Given the description of an element on the screen output the (x, y) to click on. 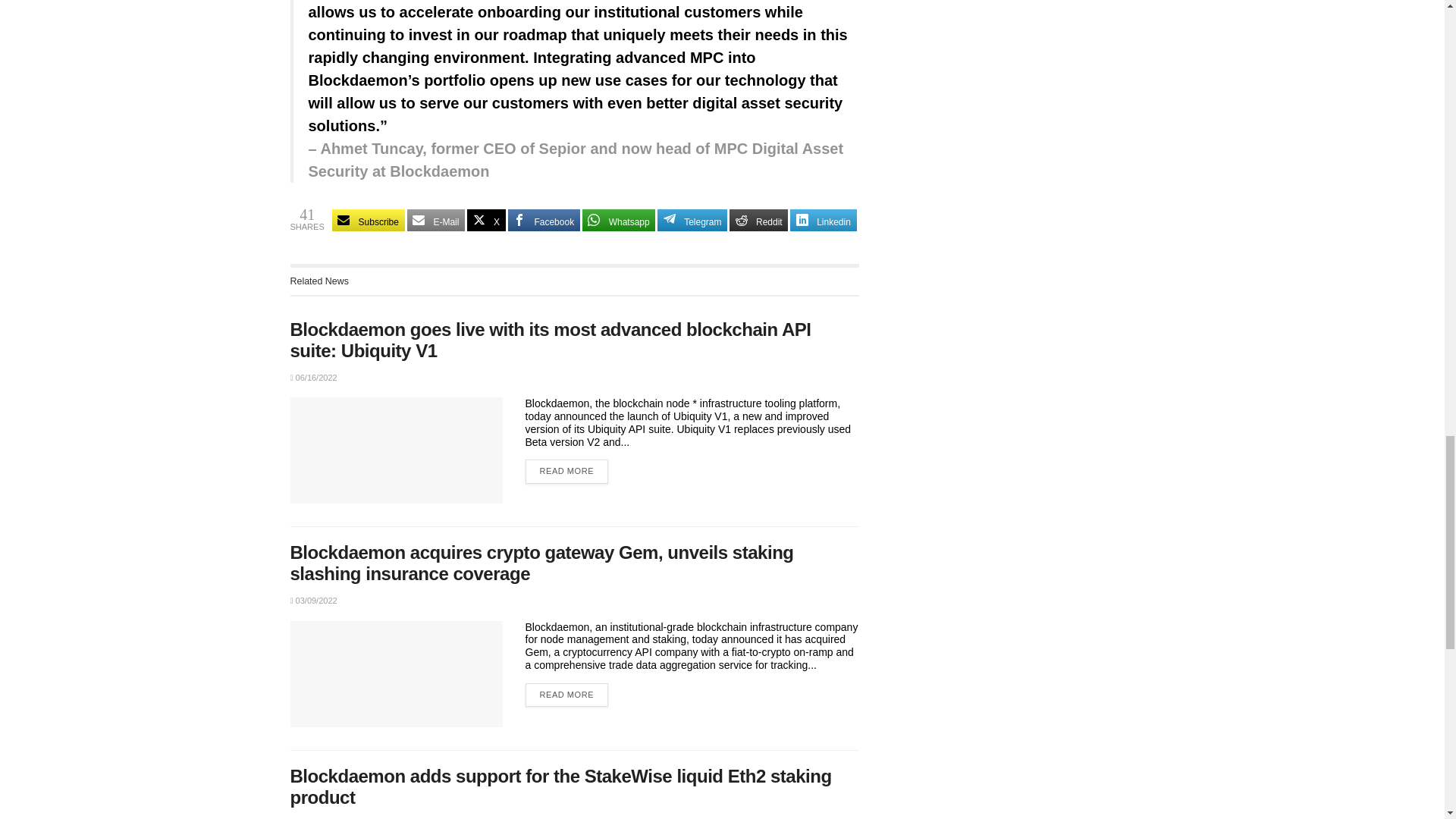
Subscribe (367, 219)
E-Mail (436, 219)
X (486, 219)
